Given the description of an element on the screen output the (x, y) to click on. 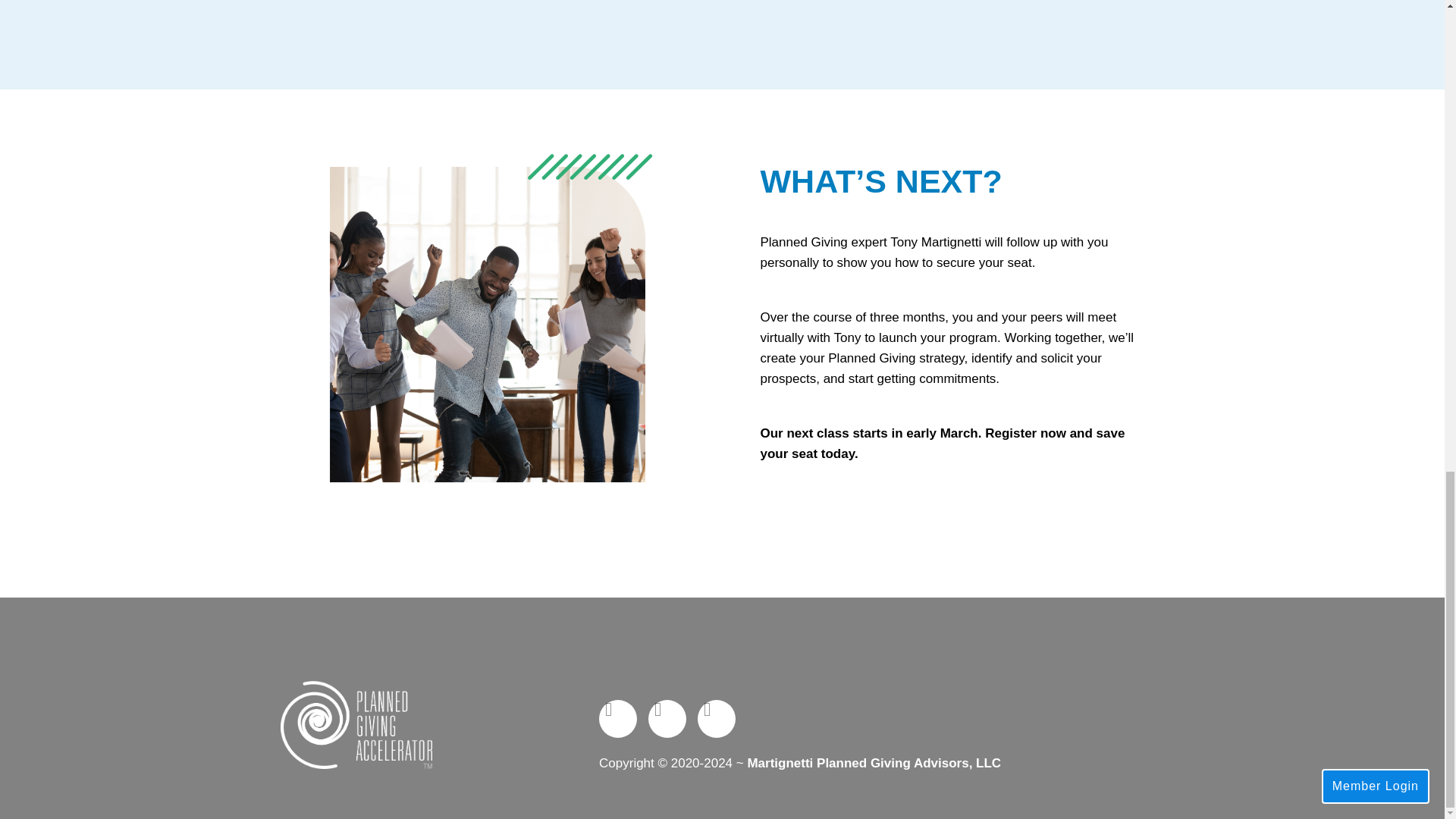
Martignetti Planned Giving Advisors, LLC (873, 762)
